Given the description of an element on the screen output the (x, y) to click on. 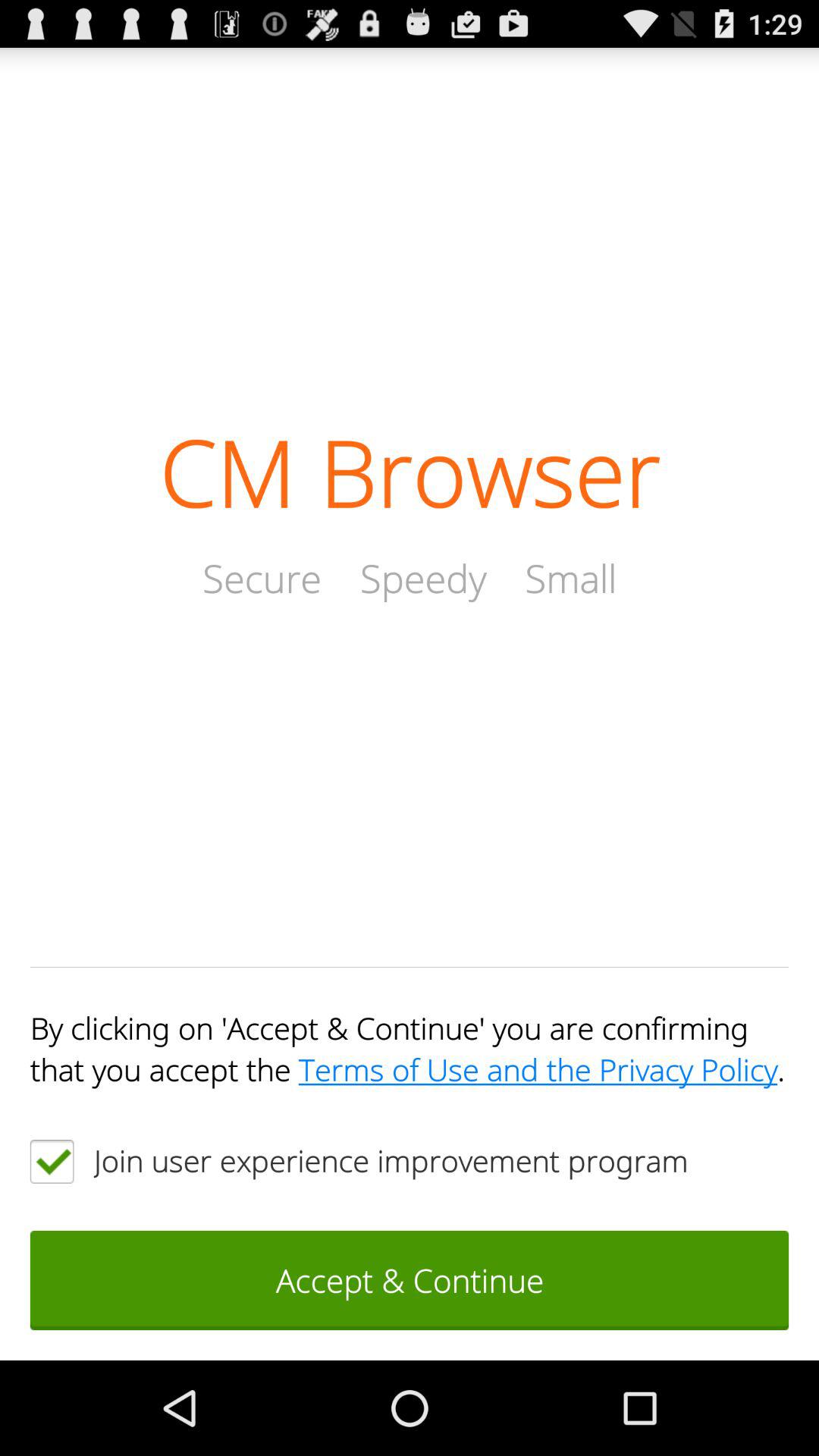
tap checkbox at the bottom left corner (51, 1161)
